Given the description of an element on the screen output the (x, y) to click on. 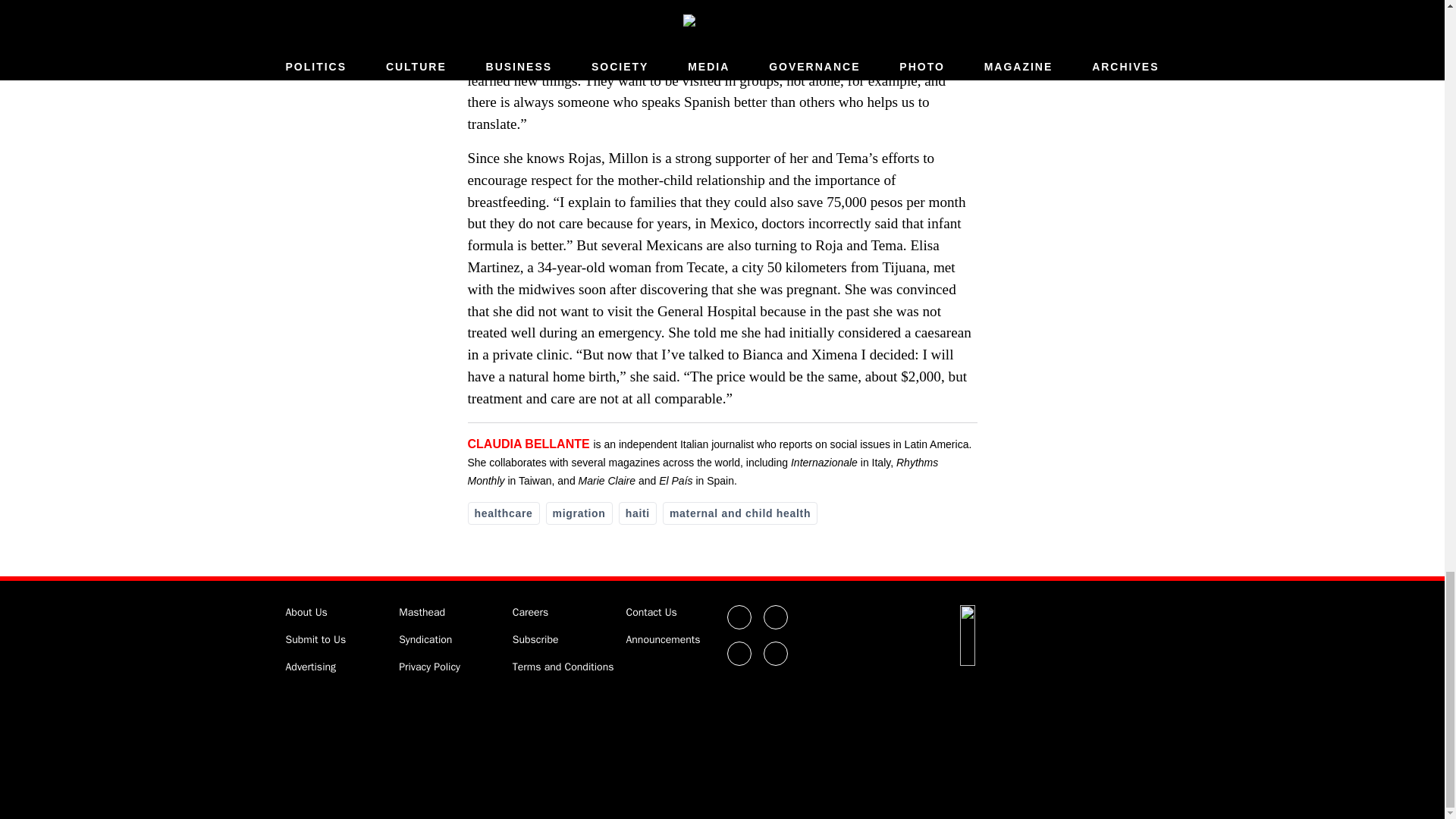
migration (579, 513)
Privacy Policy (429, 666)
Subscribe (535, 639)
Masthead (421, 612)
maternal and child health (739, 513)
healthcare (502, 513)
Advertising (310, 666)
haiti (637, 513)
Terms and Conditions (563, 666)
CLAUDIA BELLANTE (528, 443)
